Given the description of an element on the screen output the (x, y) to click on. 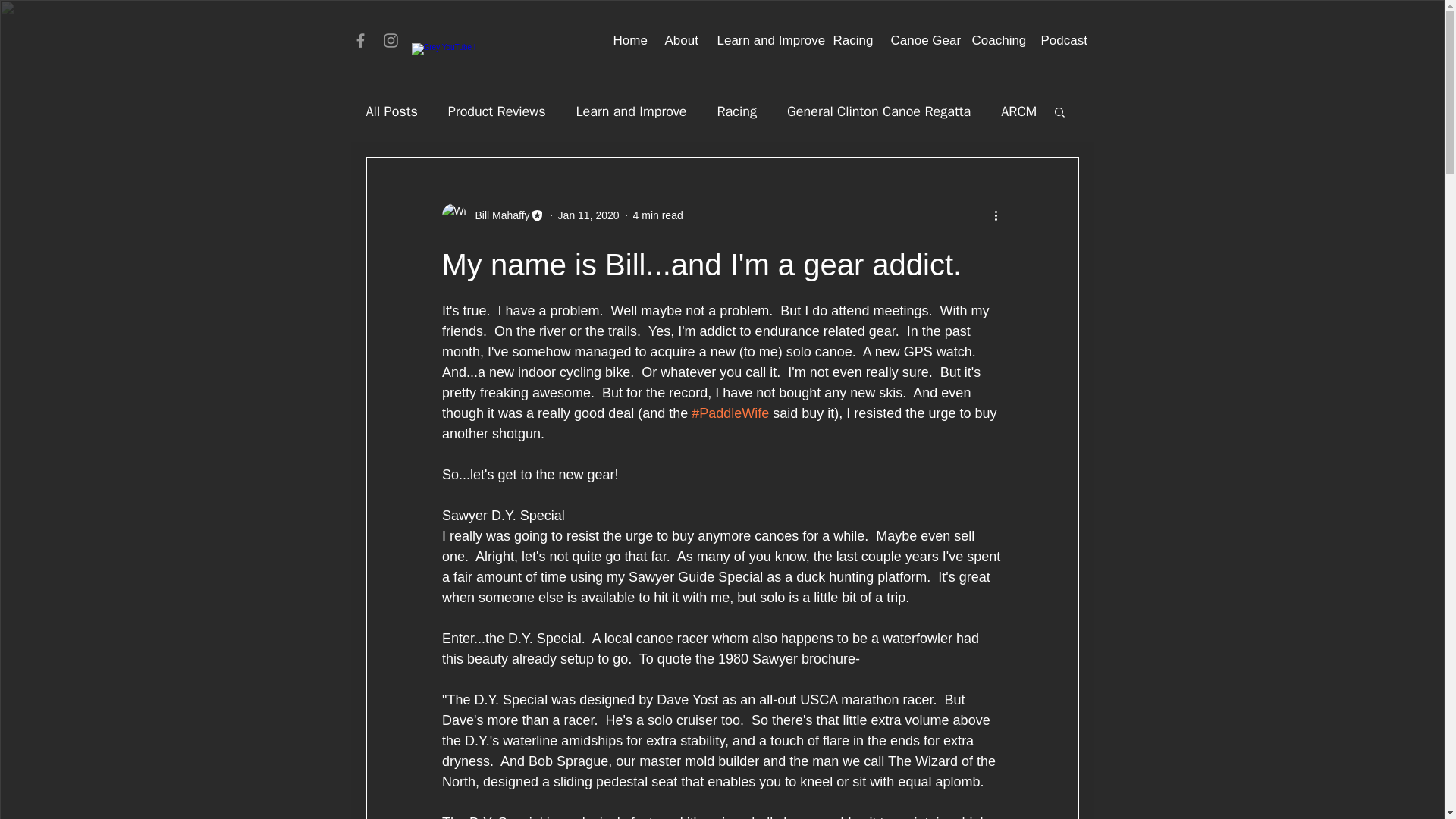
Learn and Improve (762, 40)
Jan 11, 2020 (588, 215)
Product Reviews (497, 111)
Learn and Improve (631, 111)
Bill Mahaffy (497, 215)
ARCM (1018, 111)
Racing (850, 40)
General Clinton Canoe Regatta (879, 111)
Canoe Gear (919, 40)
Home (627, 40)
